Given the description of an element on the screen output the (x, y) to click on. 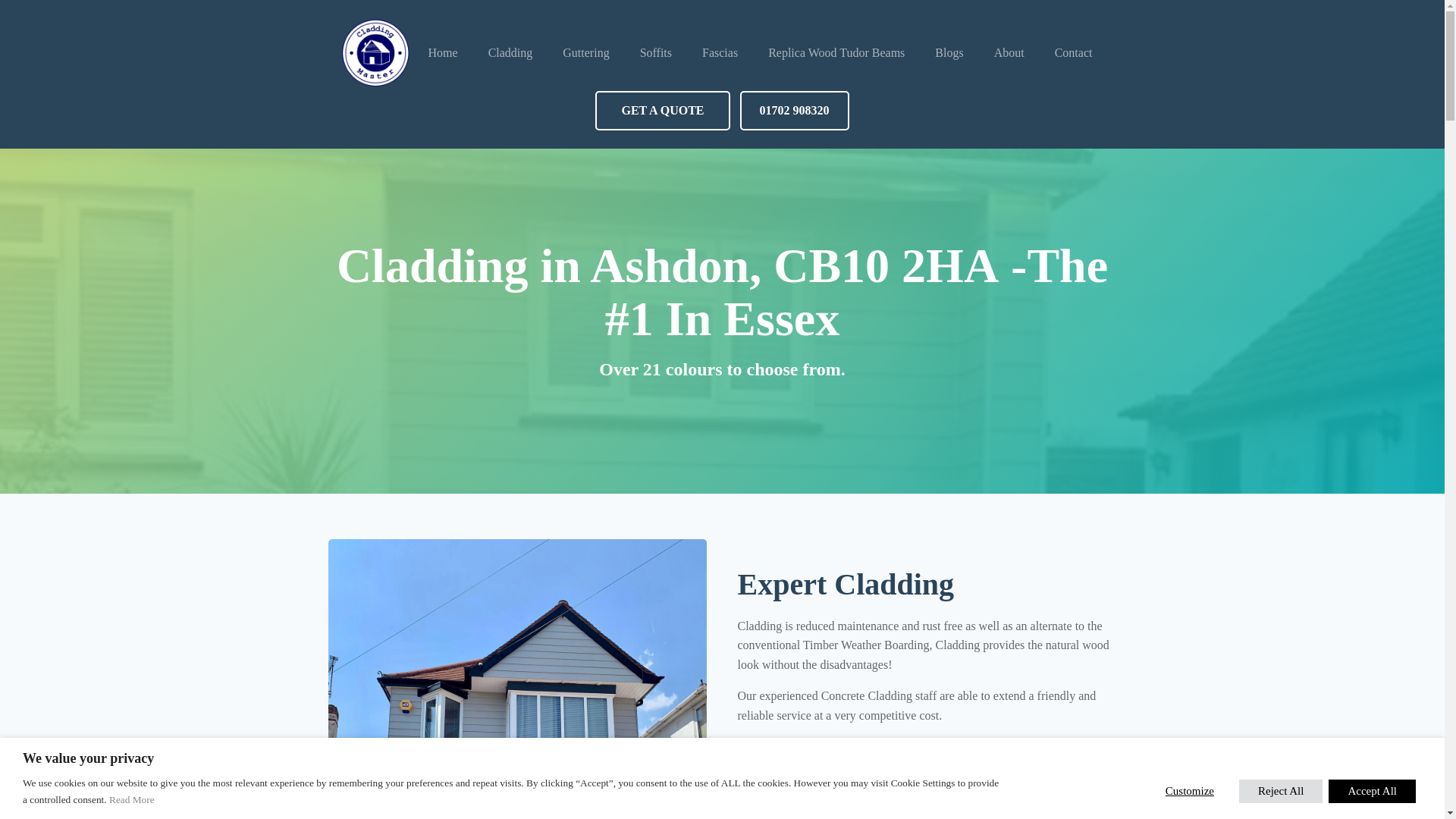
Fascias (719, 53)
GET A QUOTE (662, 110)
Home (443, 53)
Cladding (510, 53)
Blogs (949, 53)
About (1008, 53)
01702 908320 (793, 110)
Replica Wood Tudor Beams (836, 53)
Contact (1073, 53)
Guttering (585, 53)
